Given the description of an element on the screen output the (x, y) to click on. 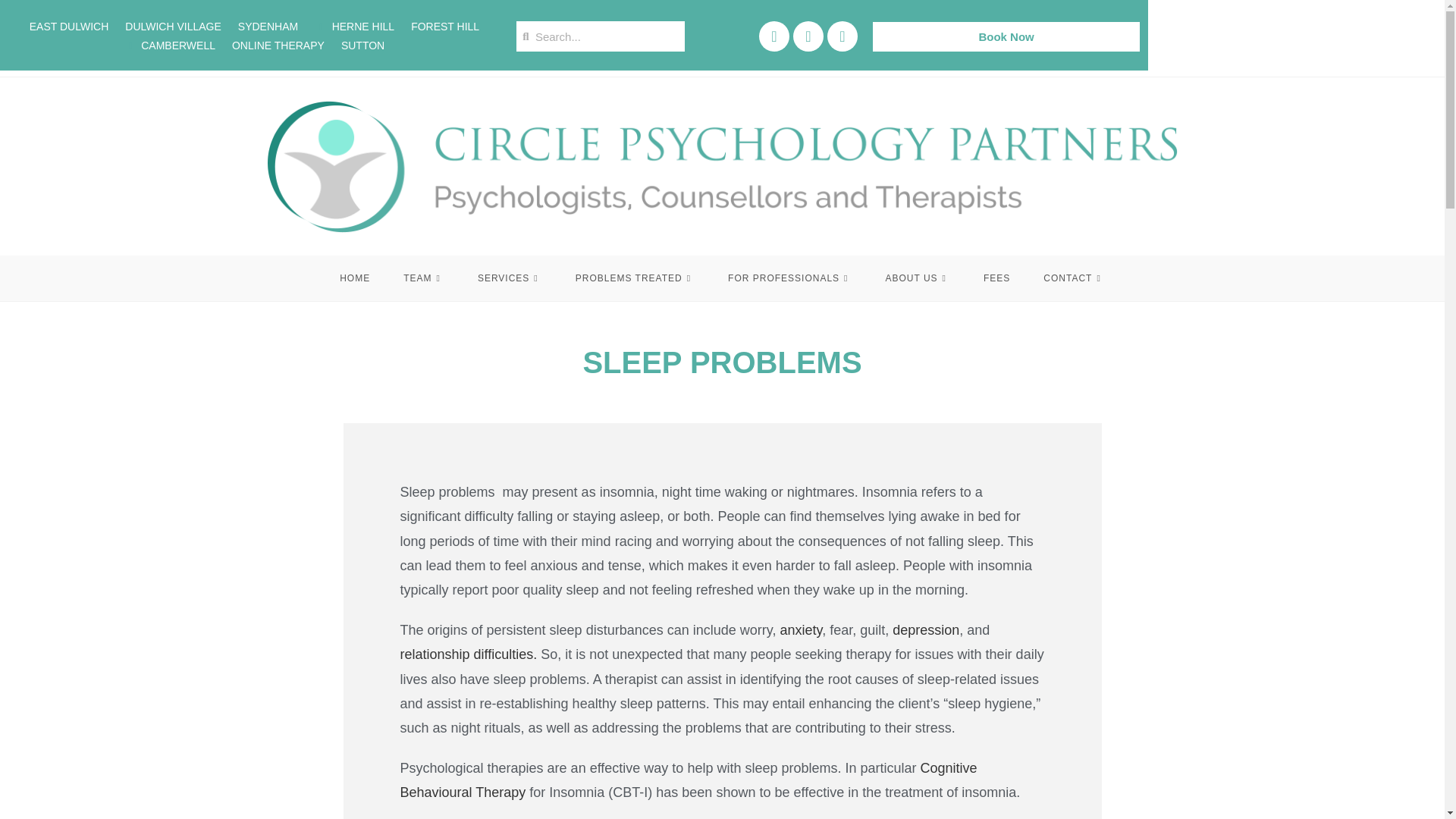
EAST DULWICH (69, 26)
Book Now (1006, 36)
HERNE HILL (354, 26)
TEAM (424, 278)
FOREST HILL (444, 26)
CAMBERWELL (169, 45)
SUTTON (362, 45)
HOME (355, 278)
DULWICH VILLAGE (173, 26)
SYDENHAM (268, 26)
